Given the description of an element on the screen output the (x, y) to click on. 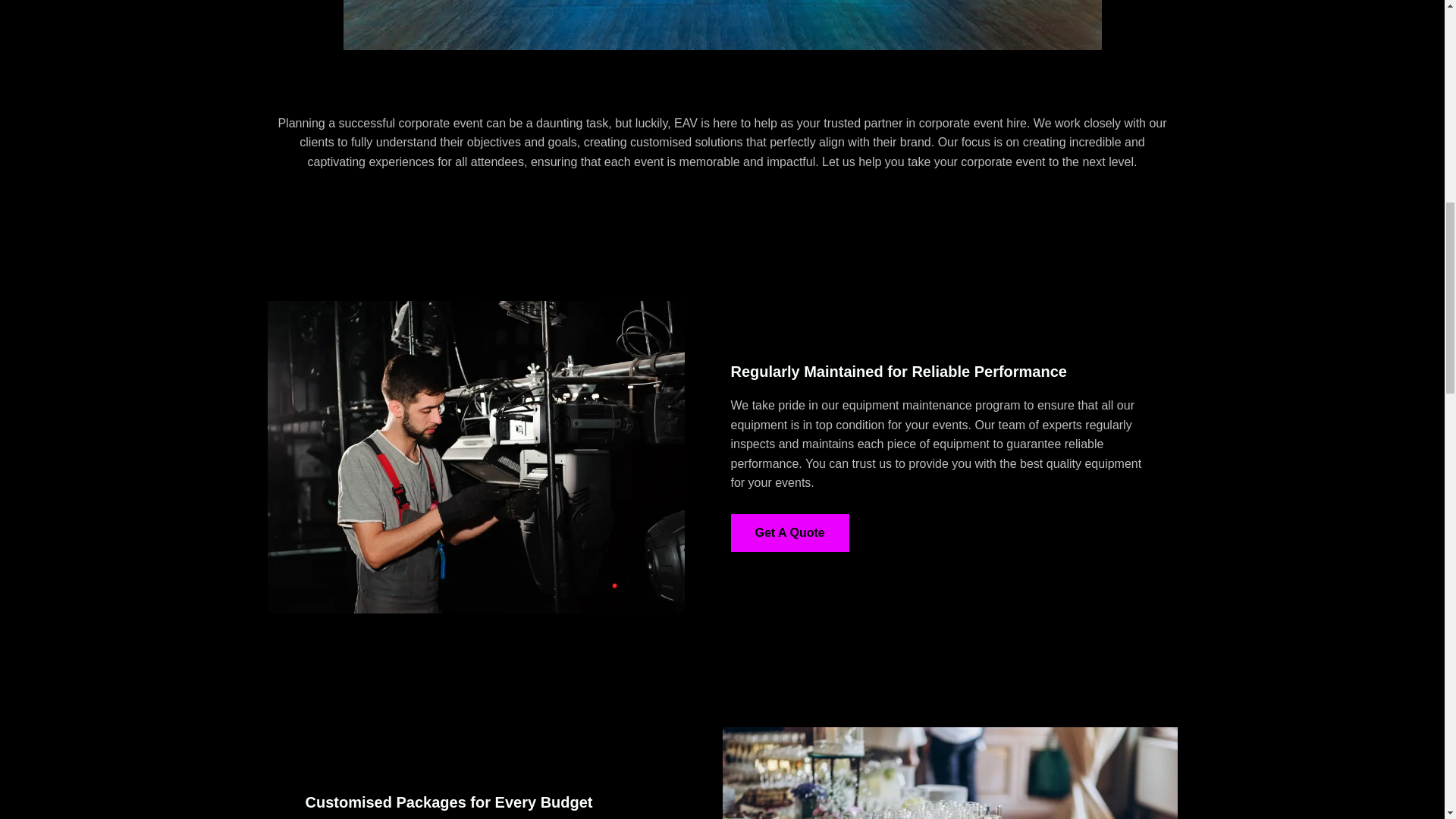
audio visual equipment (475, 457)
corporate events champagne and canapes (949, 773)
Get A Quote (789, 533)
